Given the description of an element on the screen output the (x, y) to click on. 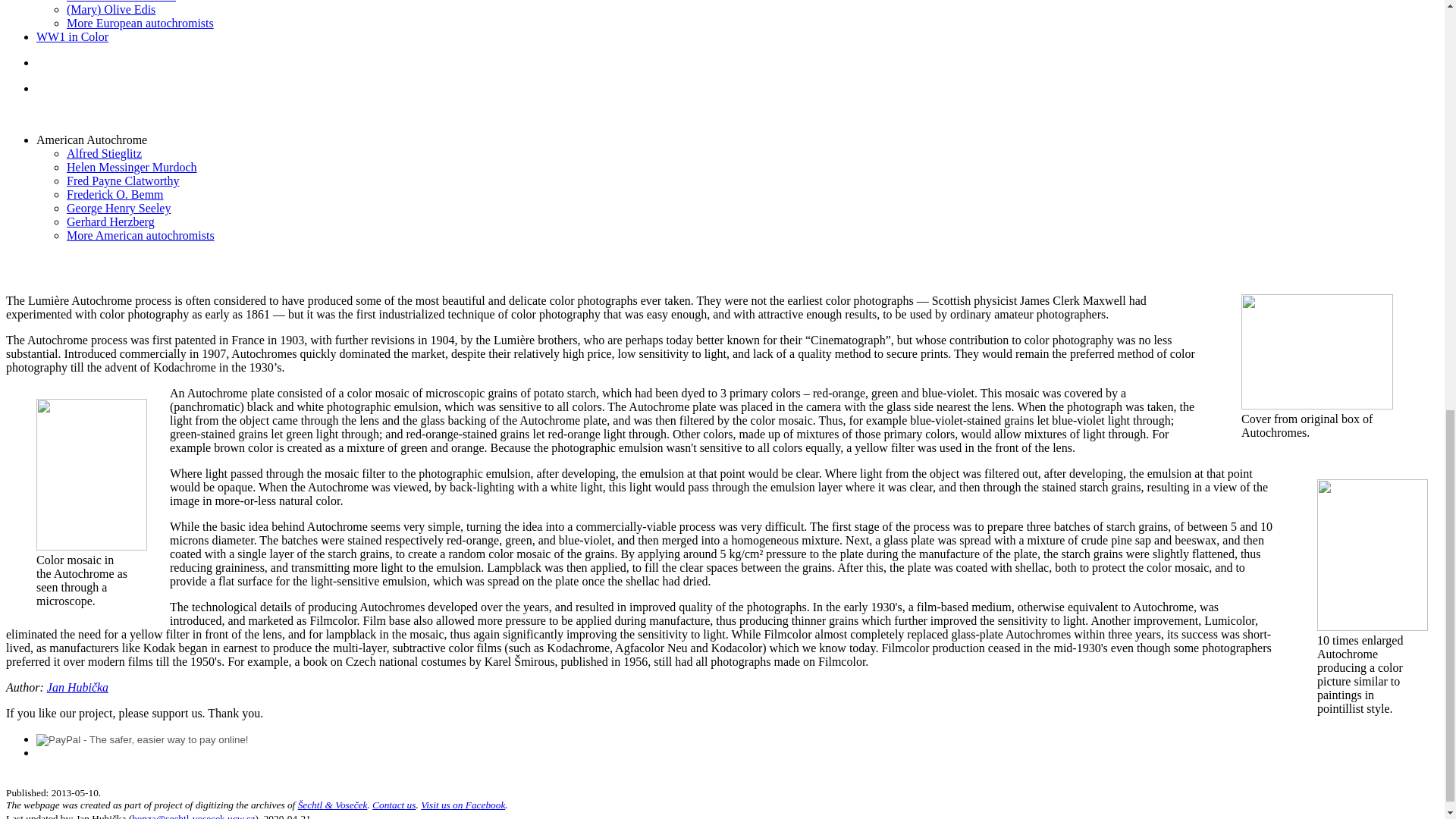
Helen Messinger Murdoch (131, 166)
More American autochromists (140, 235)
George Henry Seeley (118, 207)
Frederick O. Bemm (114, 194)
WW1 in Color (71, 36)
Alfred Stieglitz (103, 153)
Gerhard Herzberg (110, 221)
Fred Payne Clatworthy (122, 180)
More European autochromists (140, 22)
